Given the description of an element on the screen output the (x, y) to click on. 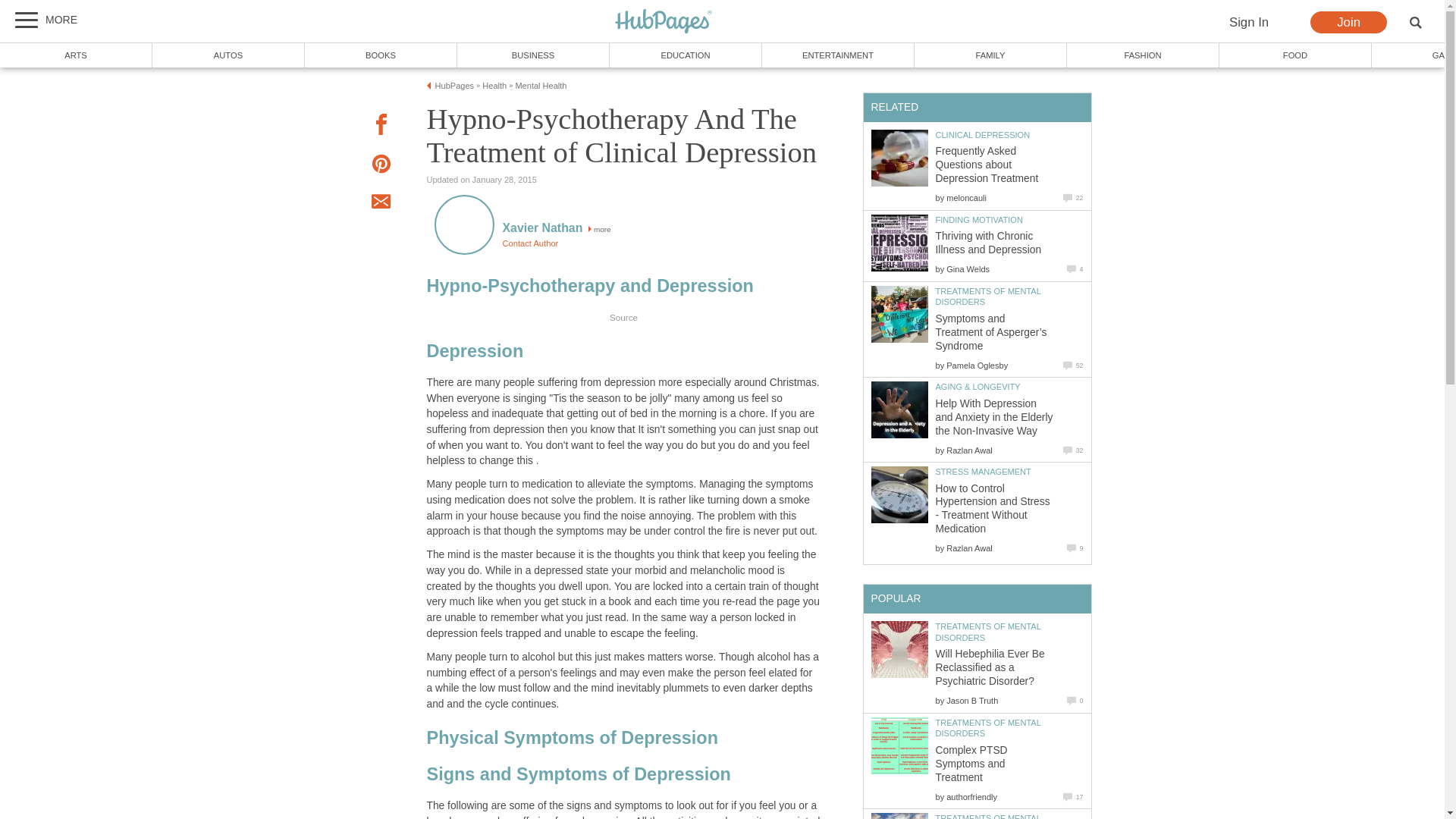
BUSINESS (533, 55)
Join (1348, 22)
EDUCATION (685, 55)
HubPages (663, 21)
Taking a Trip: 5 of the Best Activities While Using Lsd (898, 816)
Complex PTSD Symptoms and Treatment (898, 745)
ARTS (76, 55)
Sign In (1248, 22)
HubPages (663, 22)
AUTOS (228, 55)
Email (380, 203)
FASHION (1143, 55)
Health (493, 85)
